Given the description of an element on the screen output the (x, y) to click on. 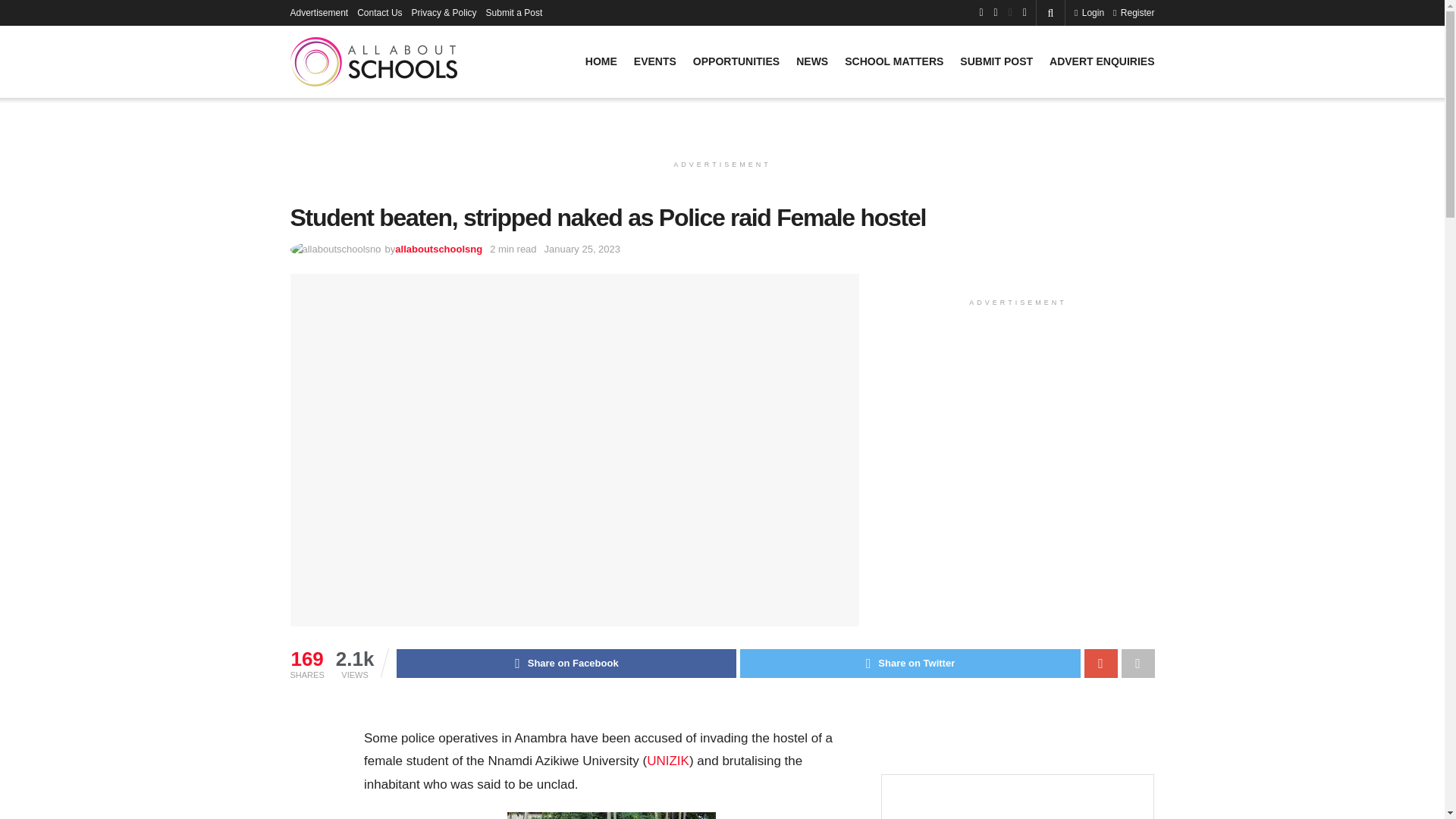
January 25, 2023 (582, 248)
Contact Us (378, 12)
Login (1088, 12)
SCHOOL MATTERS (893, 61)
OPPORTUNITIES (735, 61)
Register (1133, 12)
Submit a Post (514, 12)
allaboutschoolsng (437, 248)
SUBMIT POST (995, 61)
ADVERT ENQUIRIES (1101, 61)
